Given the description of an element on the screen output the (x, y) to click on. 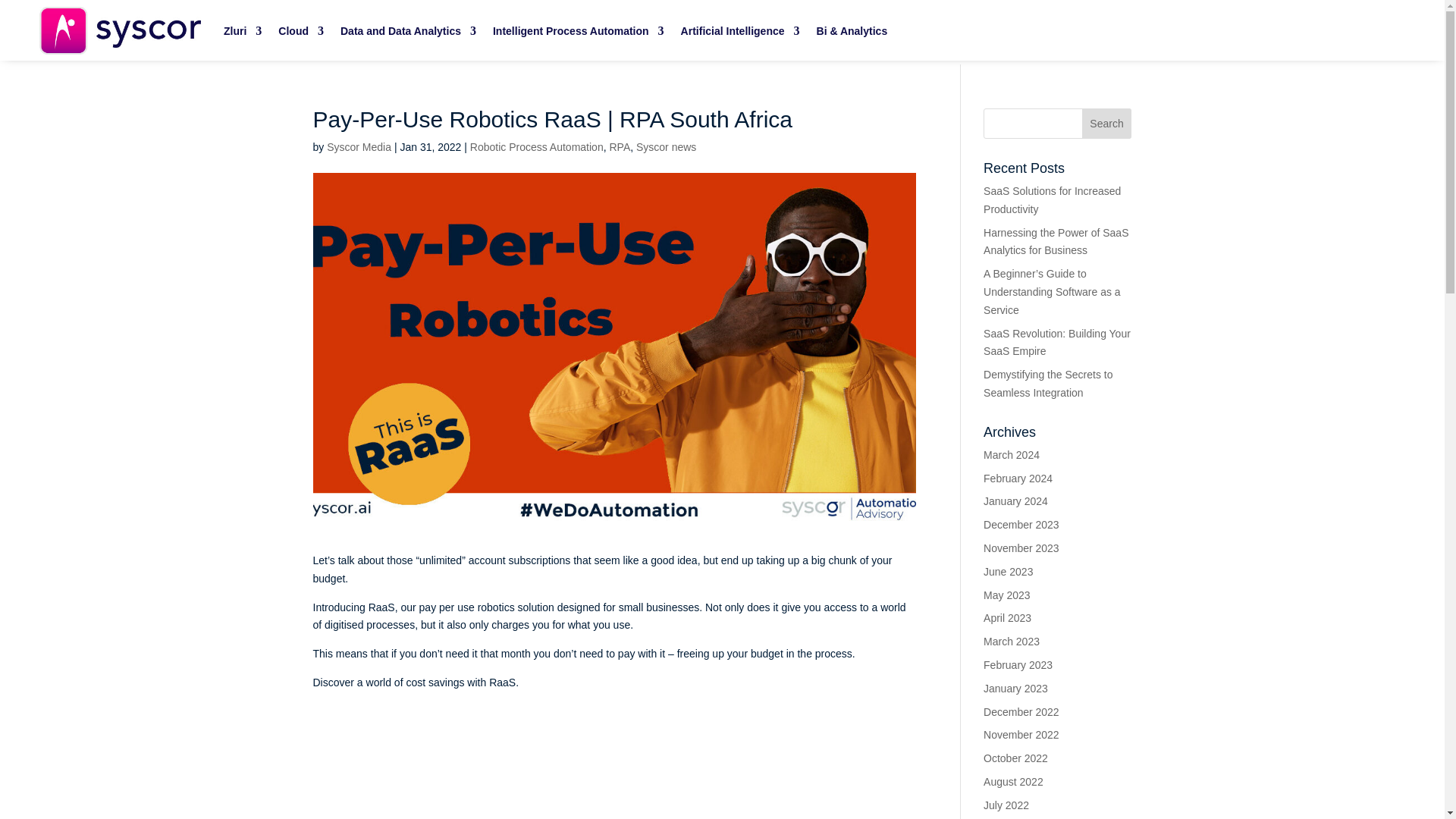
Intelligent Process Automation (578, 30)
Cloud (300, 30)
Search (1106, 123)
Posts by Syscor Media (358, 146)
Data and Data Analytics (408, 30)
Artificial Intelligence (740, 30)
